Given the description of an element on the screen output the (x, y) to click on. 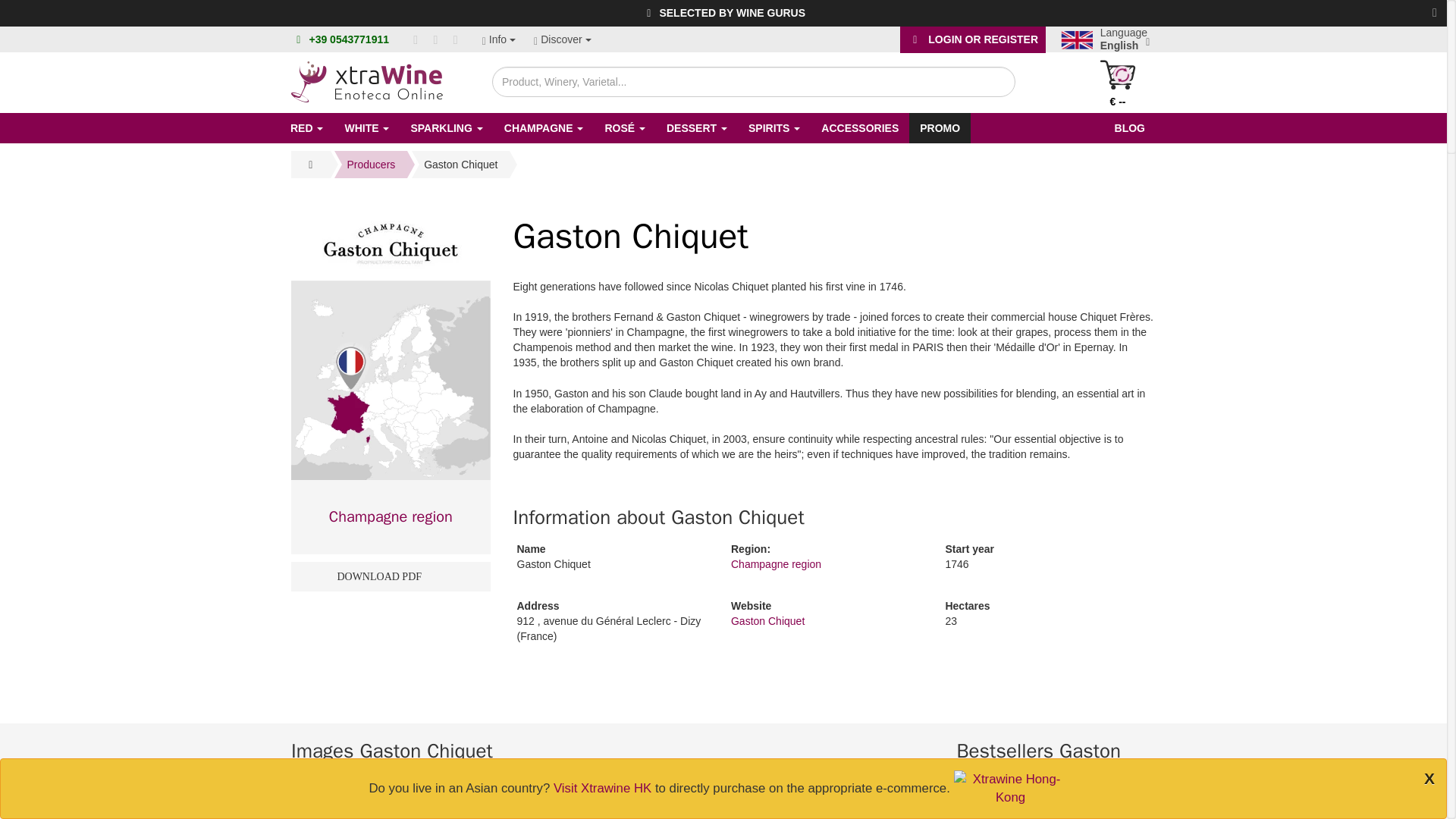
Phone (298, 39)
Close banner (1434, 12)
  LOGIN OR REGISTER (972, 39)
Discover (562, 39)
Search (988, 80)
Info (498, 39)
Phone (348, 39)
